Given the description of an element on the screen output the (x, y) to click on. 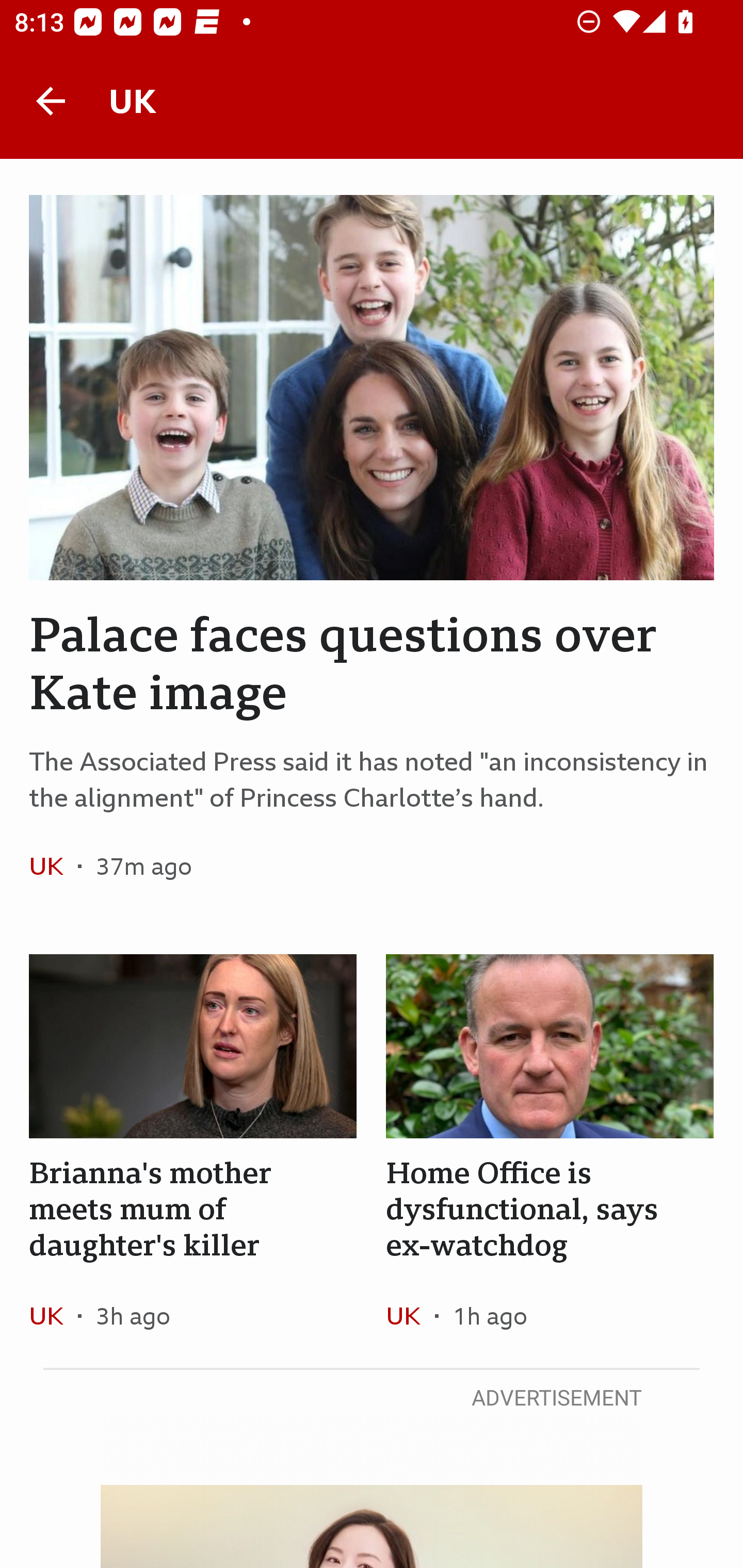
Back (50, 101)
UK In the section UK (53, 865)
UK In the section UK (53, 1315)
UK In the section UK (409, 1315)
